Given the description of an element on the screen output the (x, y) to click on. 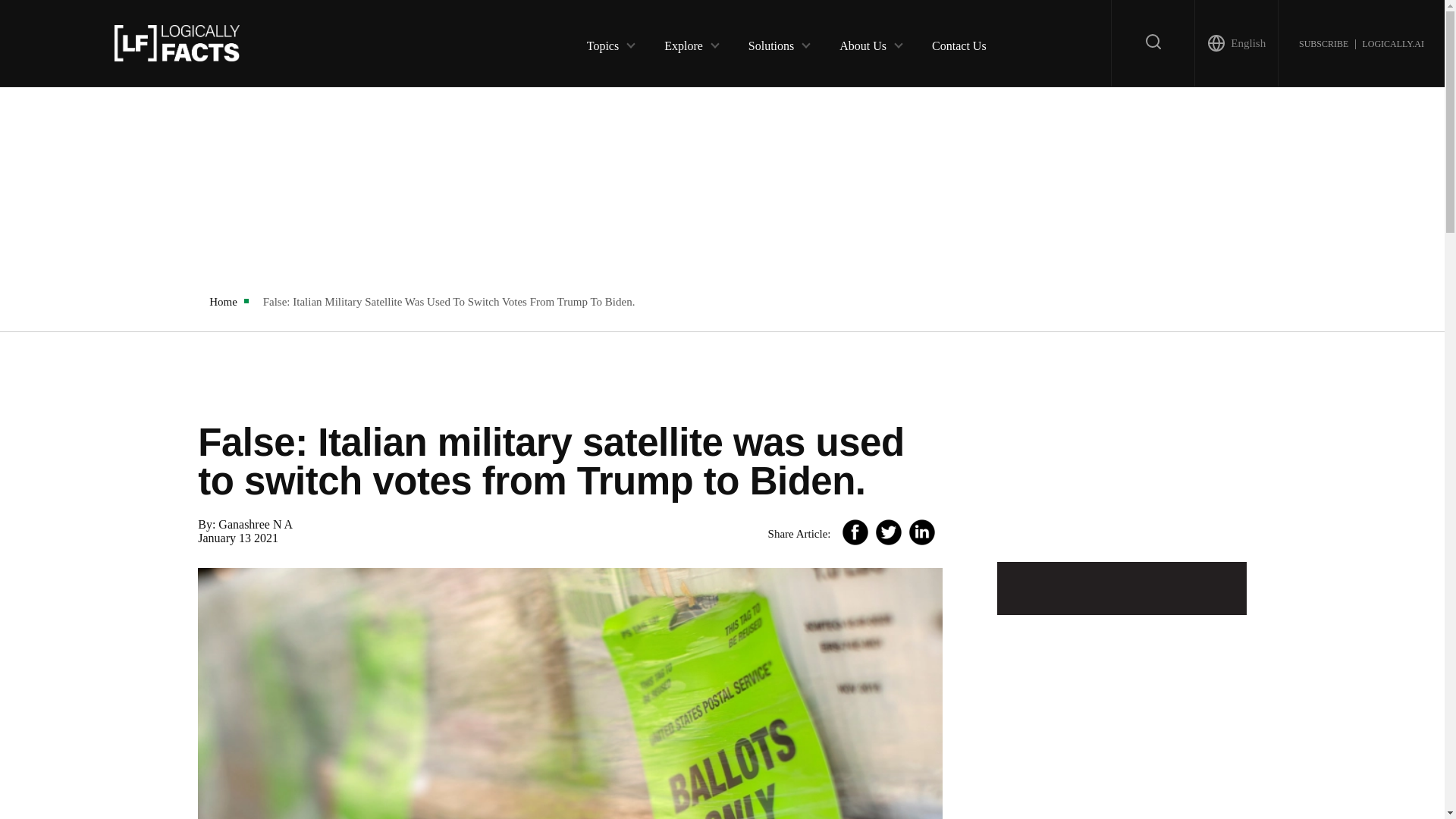
Explore (683, 42)
Home (223, 301)
Solutions (770, 42)
Contact Us (959, 42)
About Us (863, 42)
Topics (602, 42)
LOGICALLY.AI (1392, 42)
SUBSCRIBE (1323, 42)
